Given the description of an element on the screen output the (x, y) to click on. 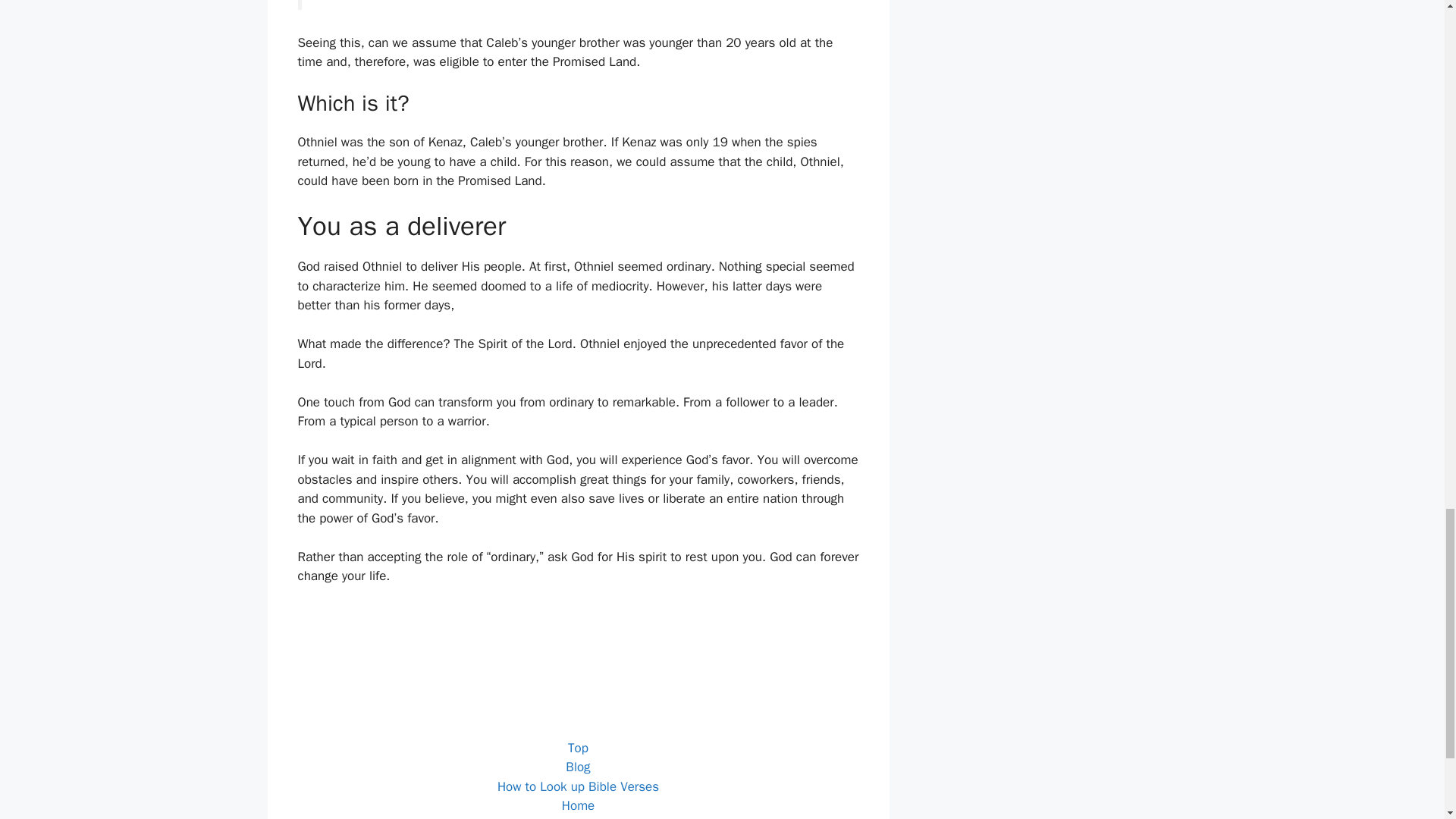
Top (577, 747)
How to Look up Bible Verses (578, 786)
Blog (577, 766)
Home (578, 805)
